Given the description of an element on the screen output the (x, y) to click on. 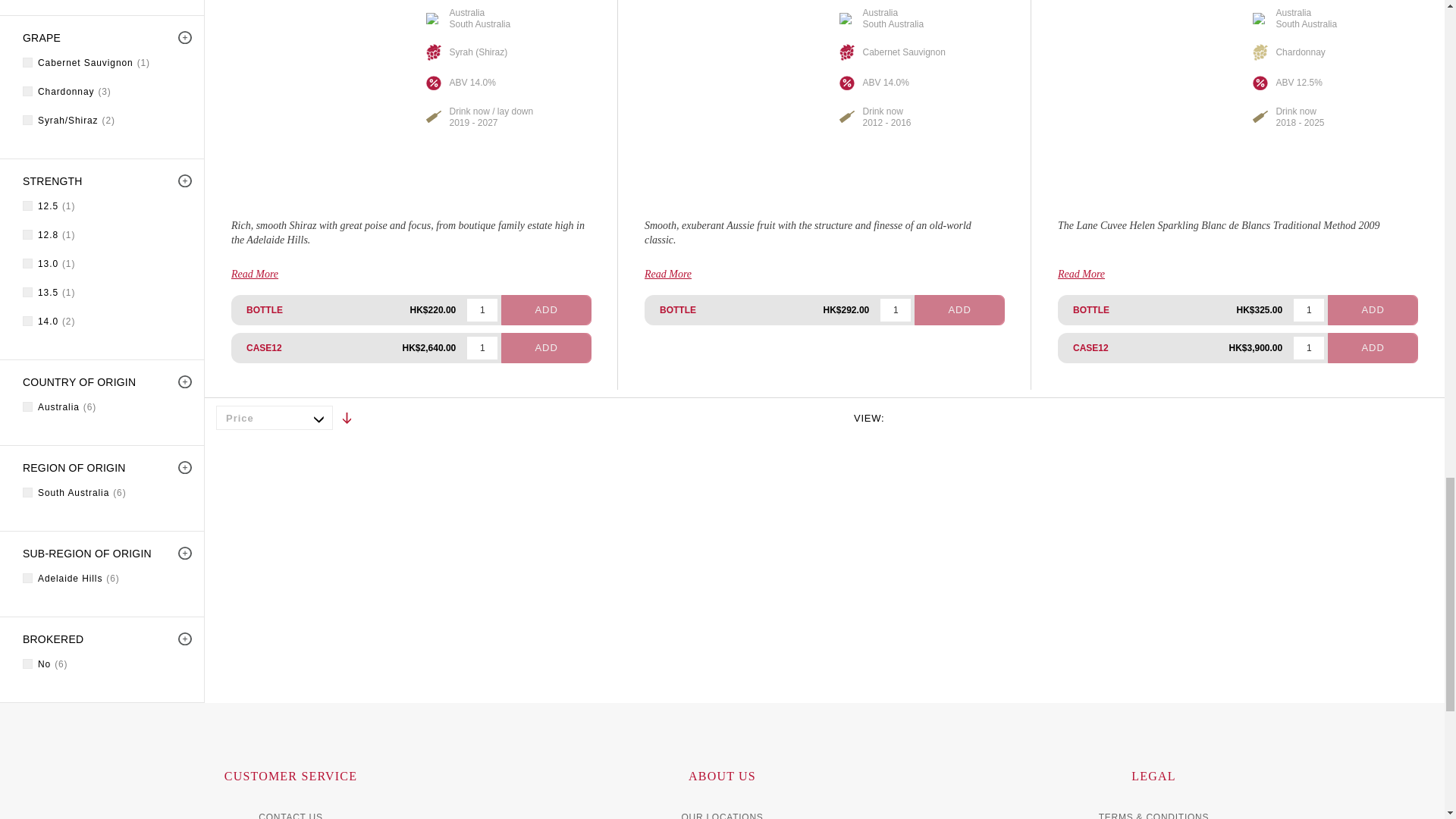
Quantity (482, 309)
Quantity (482, 347)
Quantity (895, 309)
1 (482, 347)
Add (545, 309)
1 (1308, 347)
1 (482, 309)
1 (895, 309)
1 (1308, 309)
Add (545, 347)
